Given the description of an element on the screen output the (x, y) to click on. 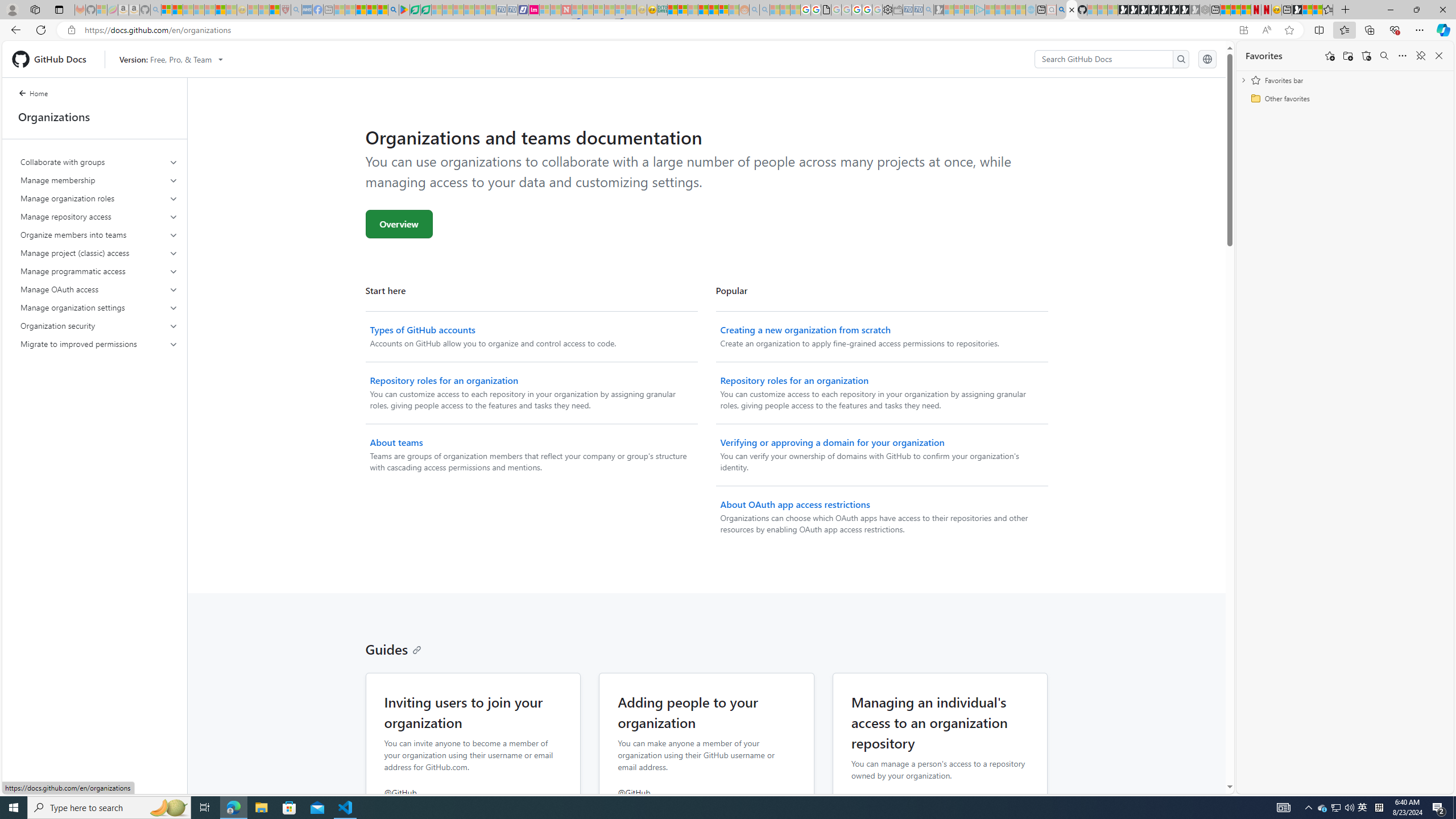
Search favorites (1383, 55)
Organizations (94, 116)
Manage membership (99, 180)
